Given the description of an element on the screen output the (x, y) to click on. 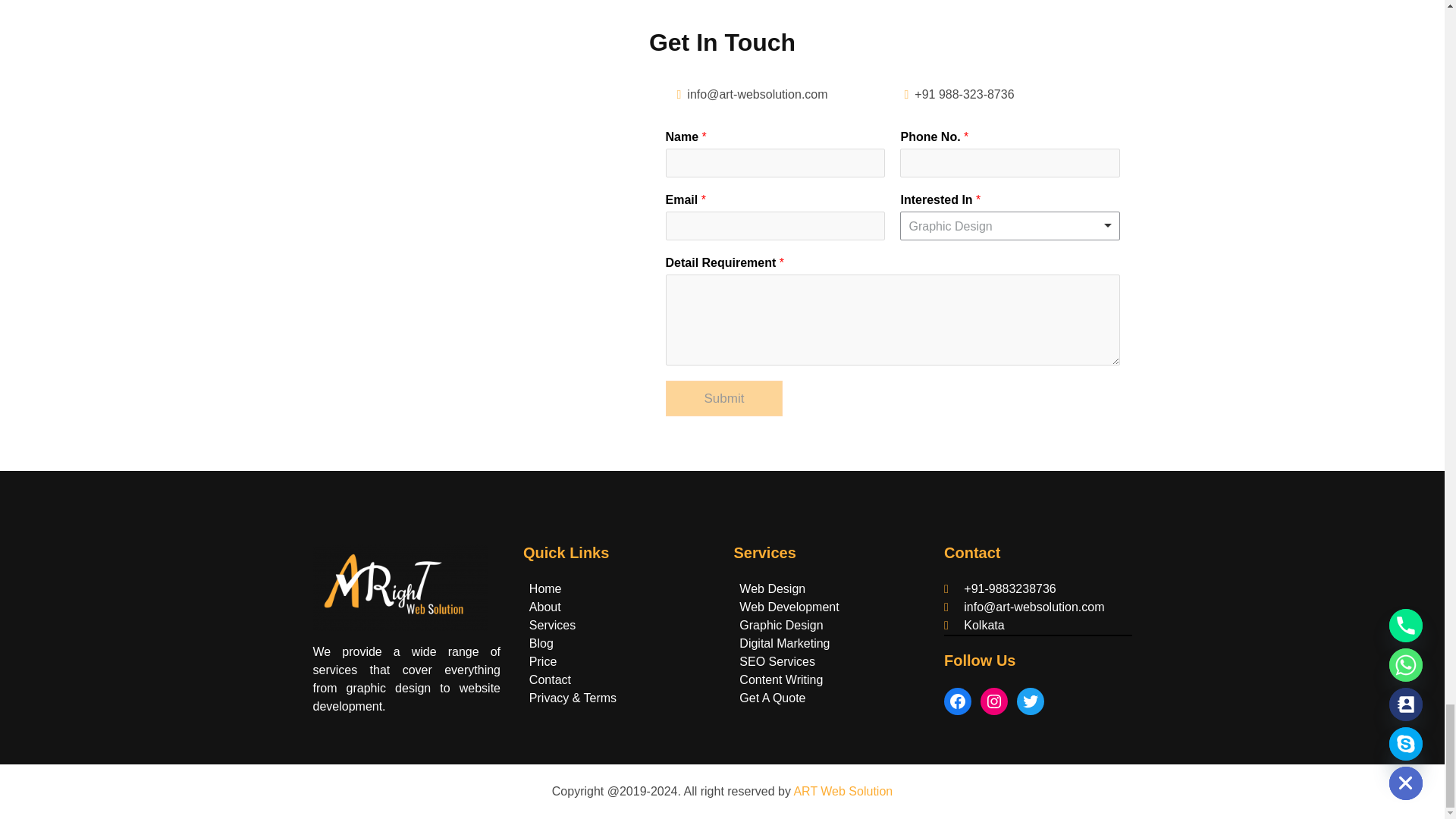
ART Web Solution (842, 790)
Home (545, 588)
Blog (541, 643)
Services (552, 625)
Get A Quote (772, 697)
Graphic Design (780, 625)
Instagram (993, 700)
Contact (549, 679)
Twitter (1029, 700)
Web Development (788, 606)
Submit (724, 398)
Web Design (772, 588)
Facebook (957, 700)
Price (542, 661)
Digital Marketing (784, 643)
